Given the description of an element on the screen output the (x, y) to click on. 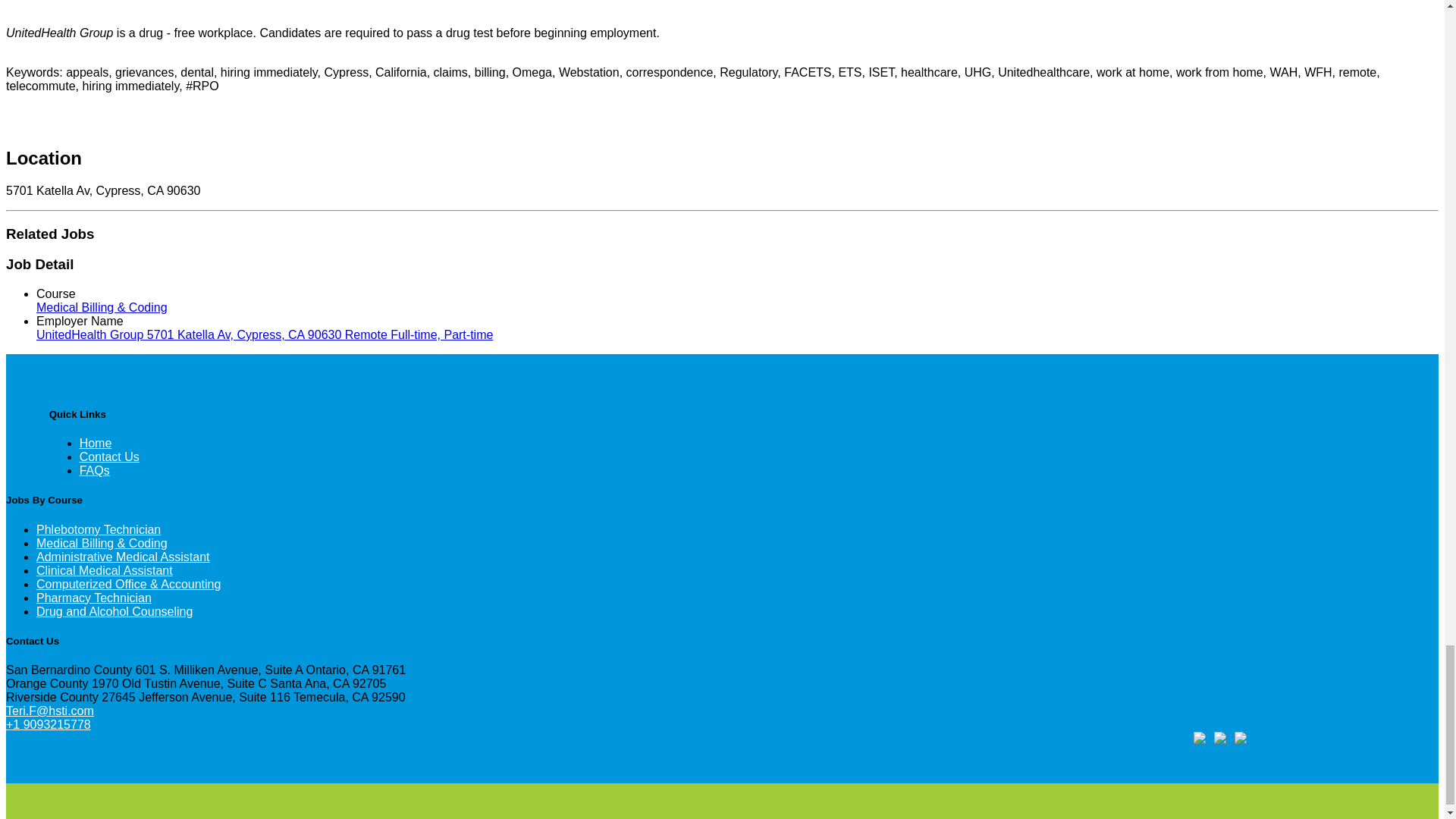
Drug and Alcohol Counseling (114, 611)
Clinical Medical Assistant (104, 570)
Pharmacy Technician (93, 597)
FAQs (95, 470)
Phlebotomy Technician (98, 529)
Home (96, 442)
Administrative Medical Assistant (122, 556)
Contact Us (109, 456)
